Given the description of an element on the screen output the (x, y) to click on. 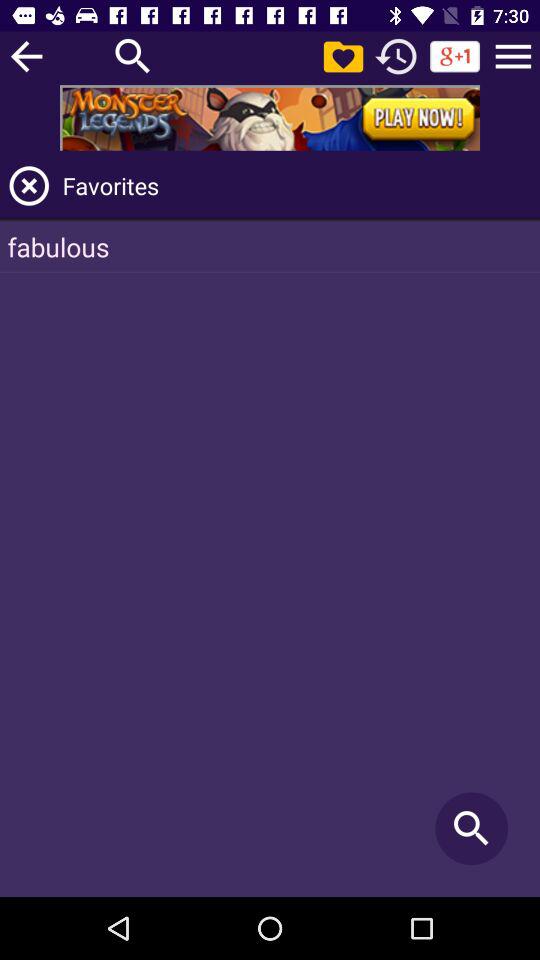
swipe to fabulous item (270, 246)
